Given the description of an element on the screen output the (x, y) to click on. 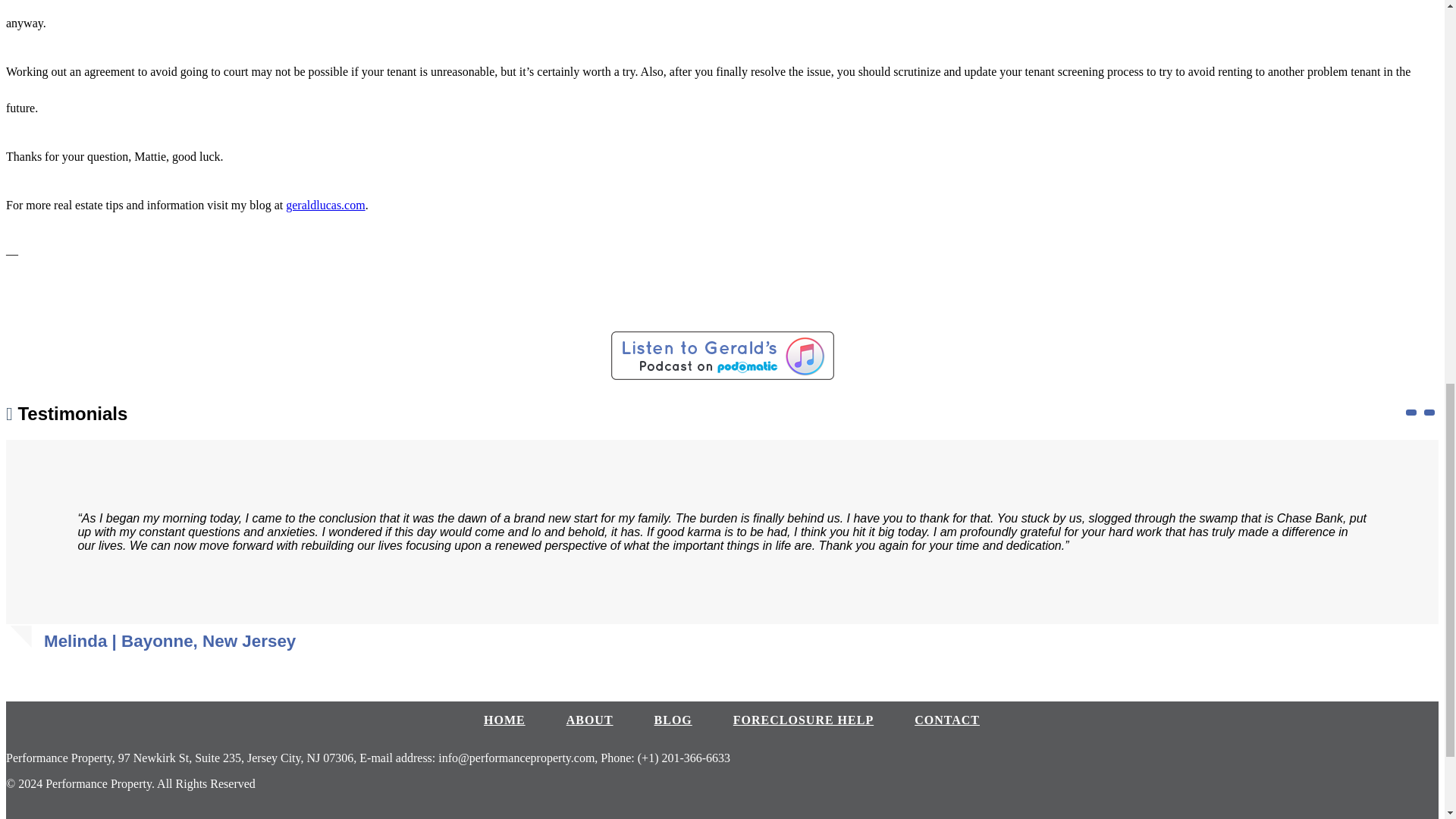
BLOG (673, 719)
HOME (504, 719)
CONTACT (946, 719)
geraldlucas.com (325, 205)
FORECLOSURE HELP (803, 719)
ABOUT (589, 719)
